Given the description of an element on the screen output the (x, y) to click on. 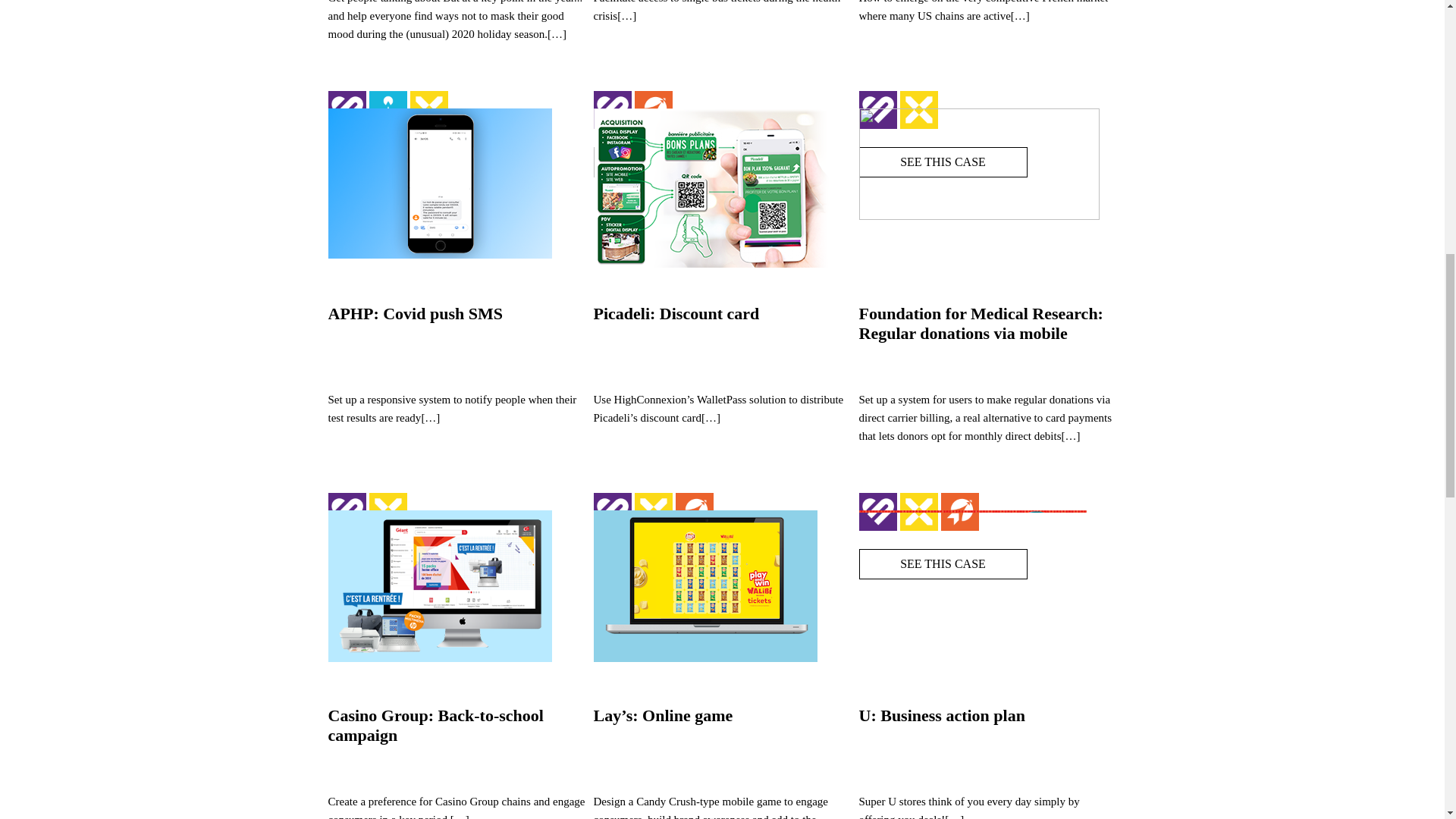
SEE THIS CASE (942, 562)
SEE THIS CASE (942, 160)
SEE THIS CASE (411, 160)
SEE THIS CASE (677, 160)
SEE THIS CASE (677, 562)
SEE THIS CASE (411, 562)
